Given the description of an element on the screen output the (x, y) to click on. 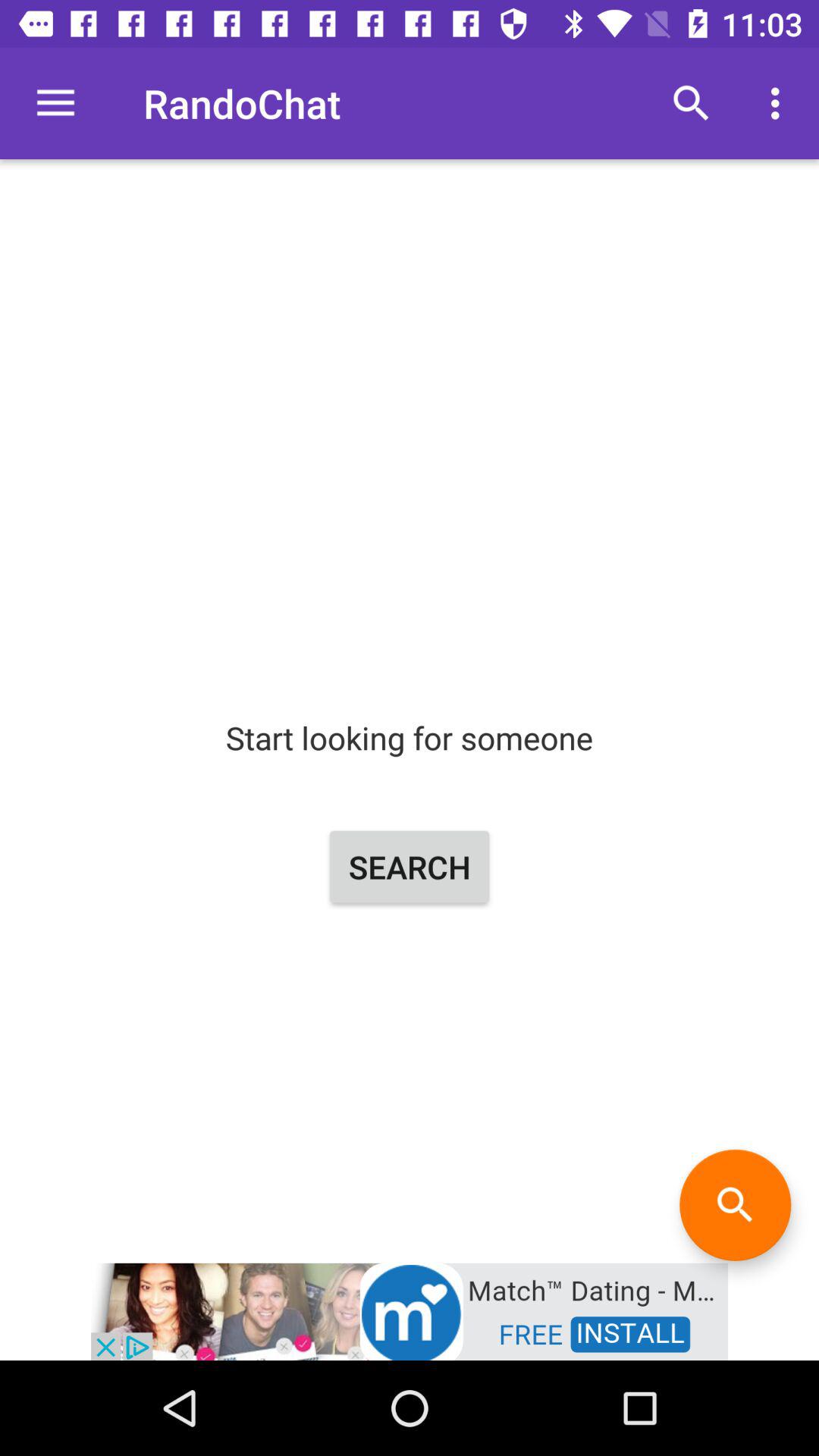
know about the advertisement (409, 1310)
